Given the description of an element on the screen output the (x, y) to click on. 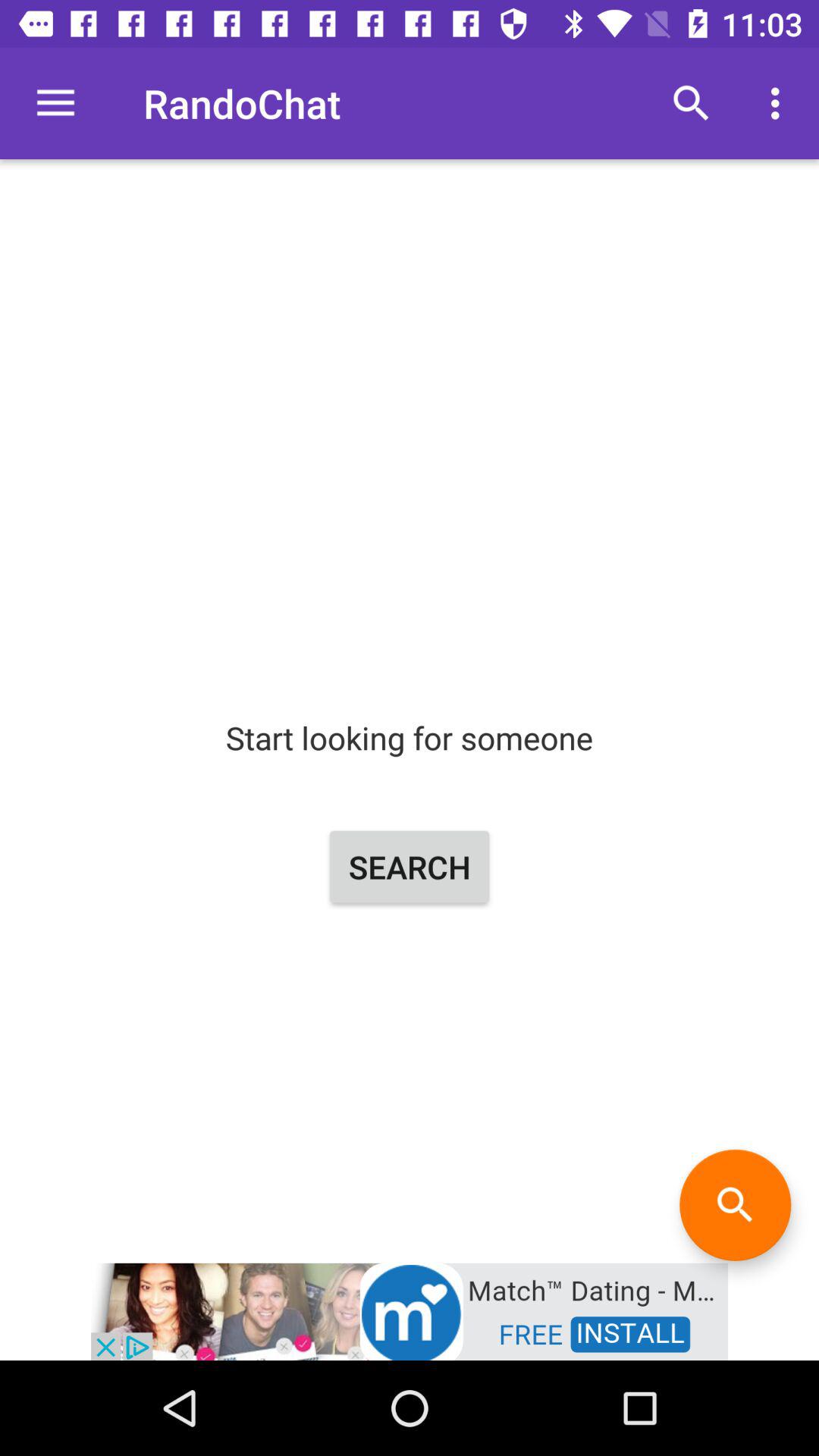
know about the advertisement (409, 1310)
